Given the description of an element on the screen output the (x, y) to click on. 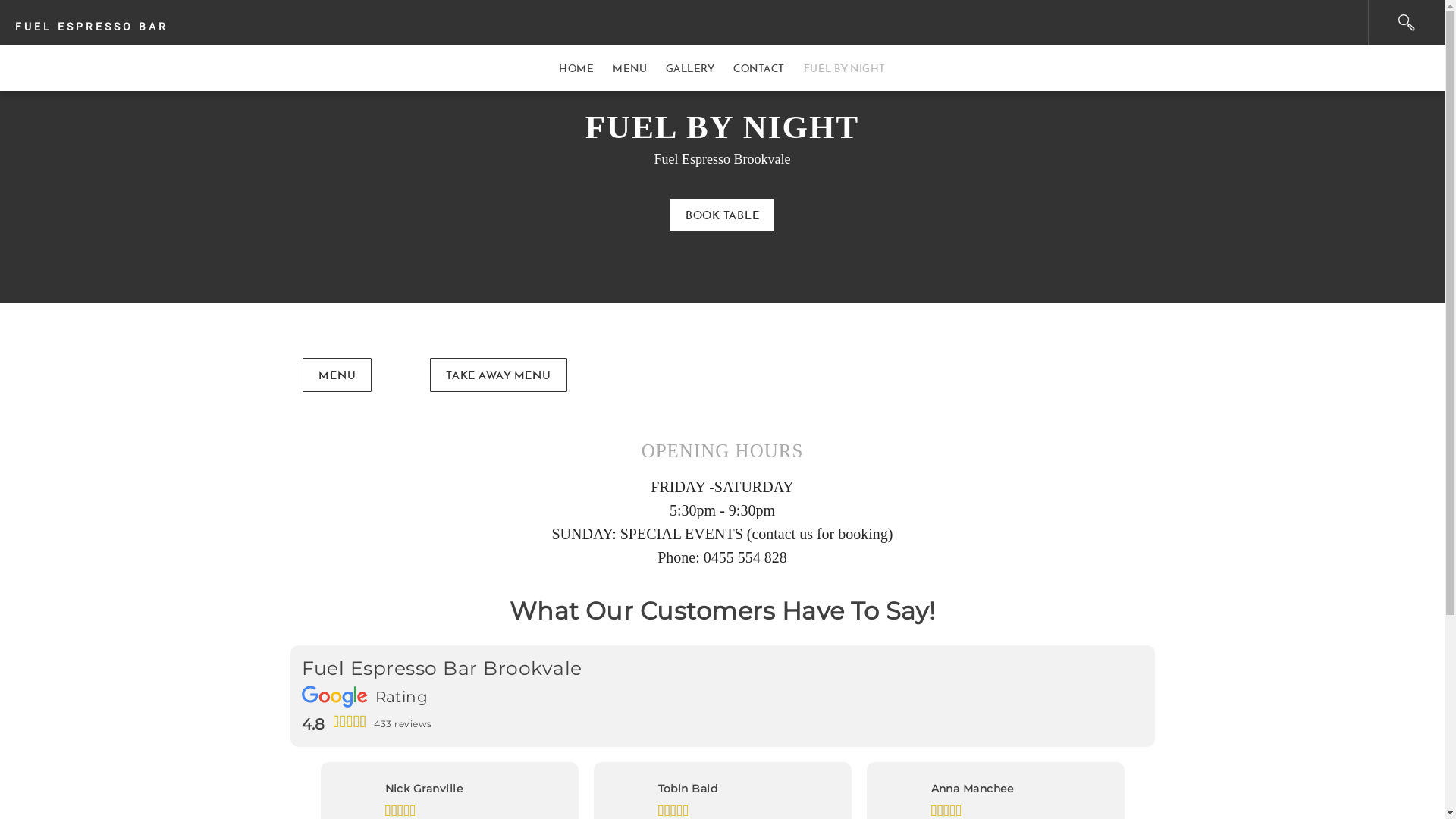
HOME Element type: text (575, 68)
TAKE AWAY MENU Element type: text (498, 374)
MENU Element type: text (629, 68)
BOOK TABLE Element type: text (722, 214)
CONTACT Element type: text (758, 68)
FUEL ESPRESSO BAR Element type: text (683, 22)
MENU Element type: text (336, 374)
FUEL BY NIGHT Element type: text (844, 68)
GALLERY Element type: text (690, 68)
